Given the description of an element on the screen output the (x, y) to click on. 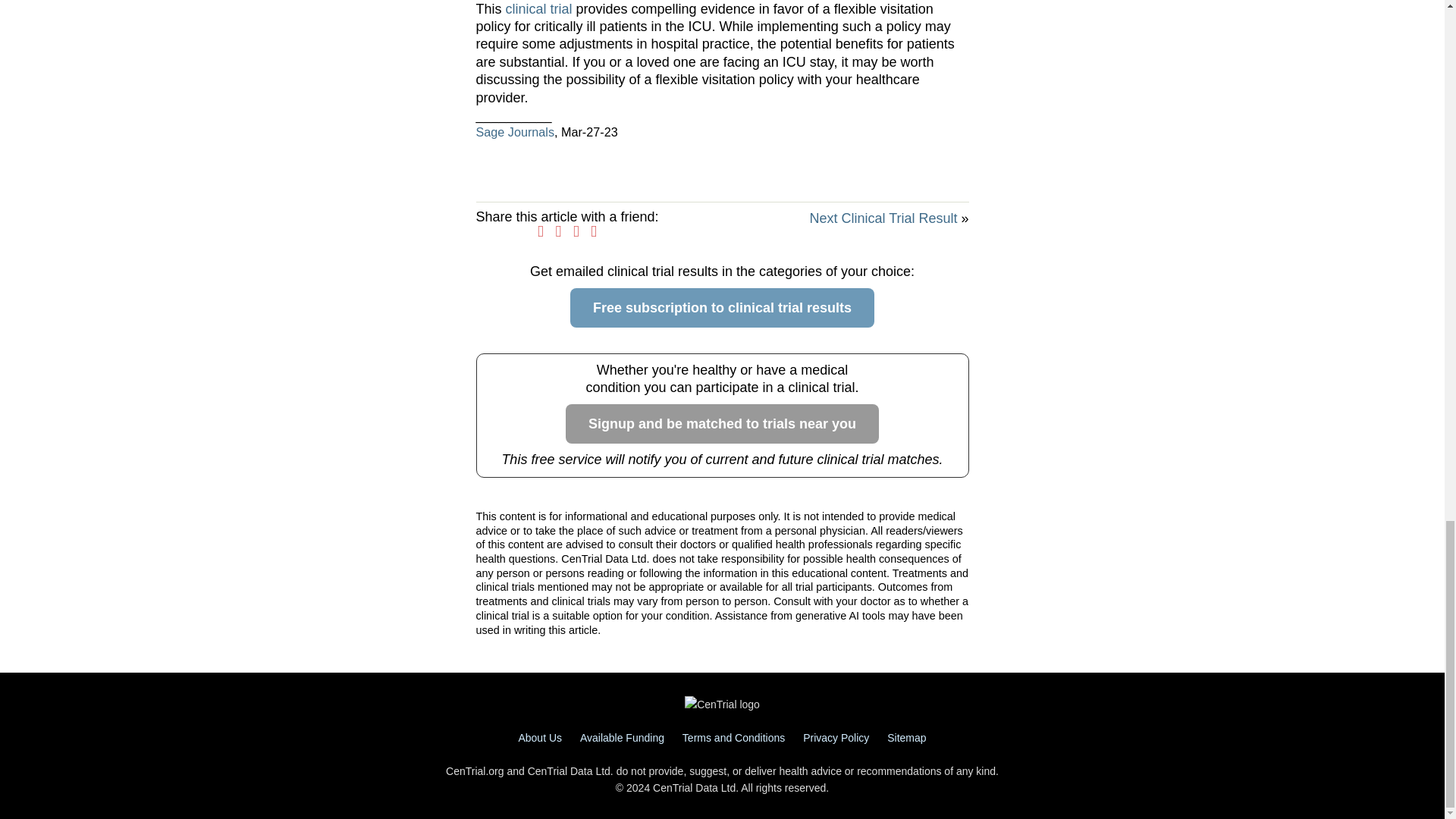
Privacy Policy (836, 737)
Available Funding (621, 737)
About Us (540, 737)
Signup and be matched to trials near you (722, 423)
Free subscription to clinical trial results (722, 307)
Sitemap (906, 737)
Sage Journals (515, 131)
Terms and Conditions (733, 737)
Next Clinical Trial Result (882, 218)
clinical trial (538, 8)
